Given the description of an element on the screen output the (x, y) to click on. 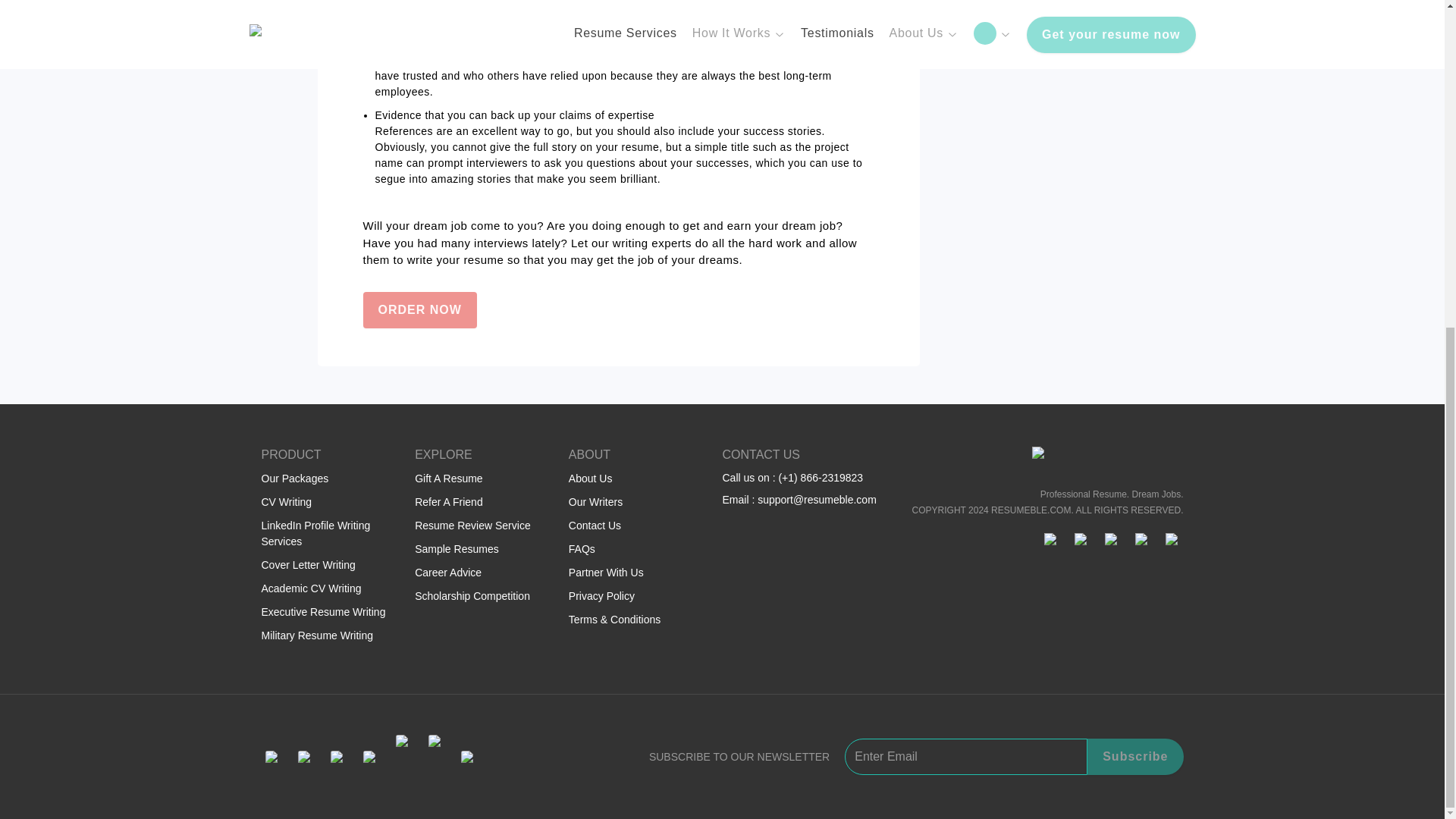
Academic CV Writing (310, 588)
ORDER NOW (419, 309)
LinkedIn Profile Writing Services (314, 532)
CV Writing (285, 501)
Our Packages (294, 477)
Cover Letter Writing (307, 563)
Software Development (994, 2)
